Given the description of an element on the screen output the (x, y) to click on. 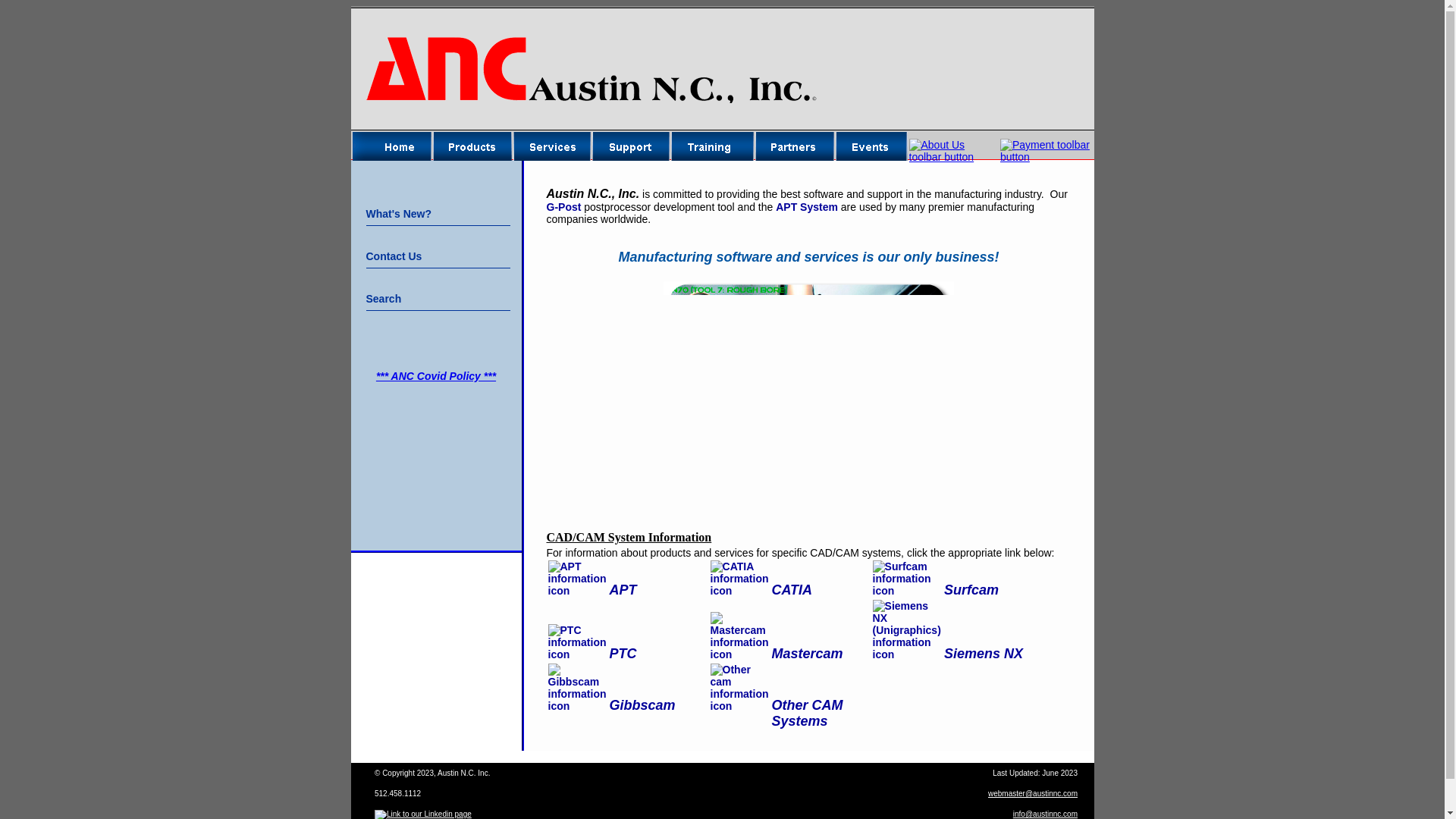
What's New? (437, 204)
G-Post (563, 206)
CATIA (791, 589)
Other CAM Systems (807, 712)
PTC (622, 653)
Gibbscam (641, 704)
APT System (807, 206)
Contact Us (437, 247)
Search (437, 289)
Siemens NX (983, 653)
Mastercam (807, 653)
APT (622, 589)
Surfcam (970, 589)
